Given the description of an element on the screen output the (x, y) to click on. 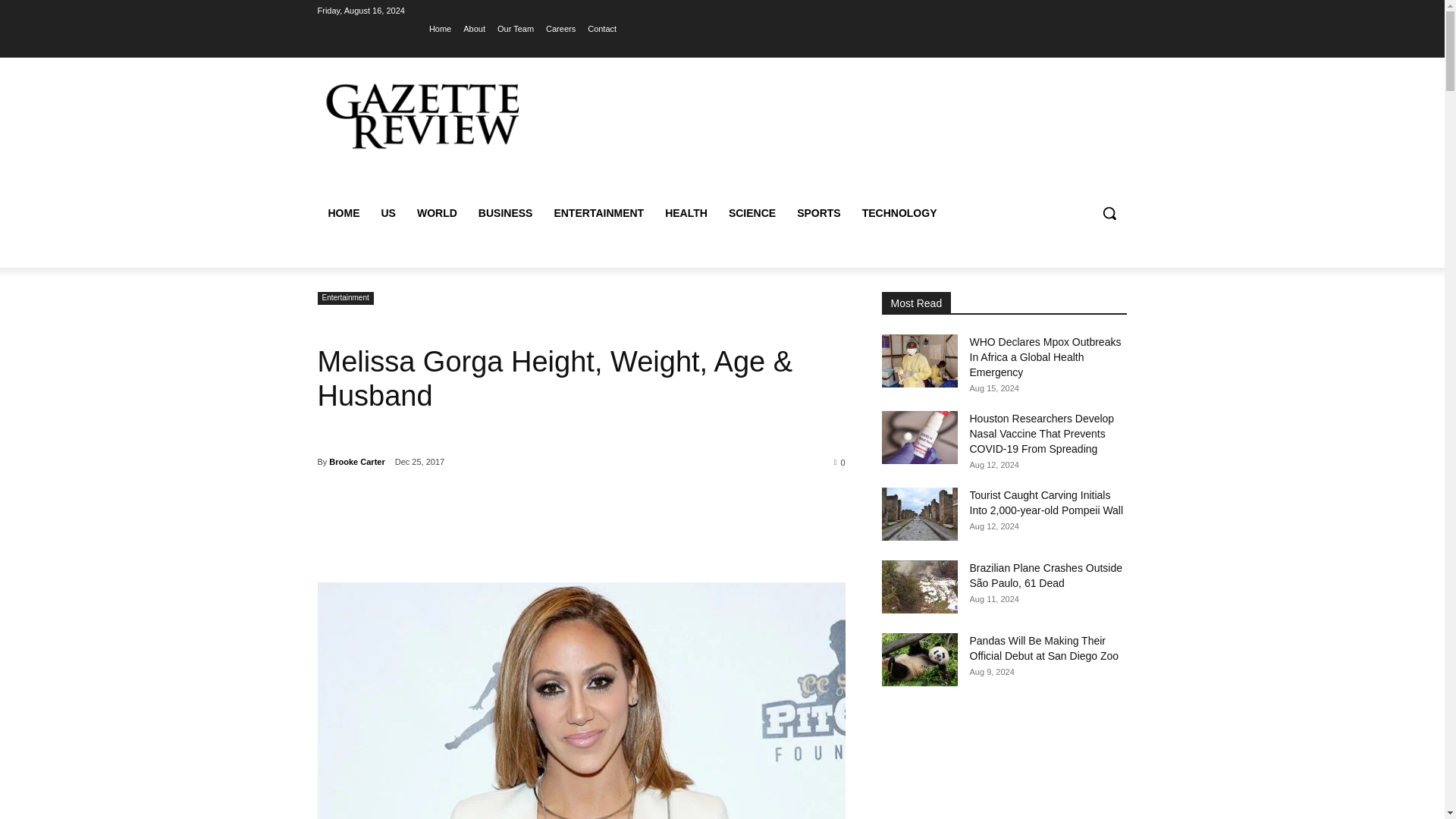
BUSINESS (505, 212)
US (387, 212)
0 (839, 461)
Brooke Carter (356, 461)
HEALTH (685, 212)
HOME (343, 212)
Our Team (515, 28)
WORLD (436, 212)
About (473, 28)
Contact (601, 28)
